Given the description of an element on the screen output the (x, y) to click on. 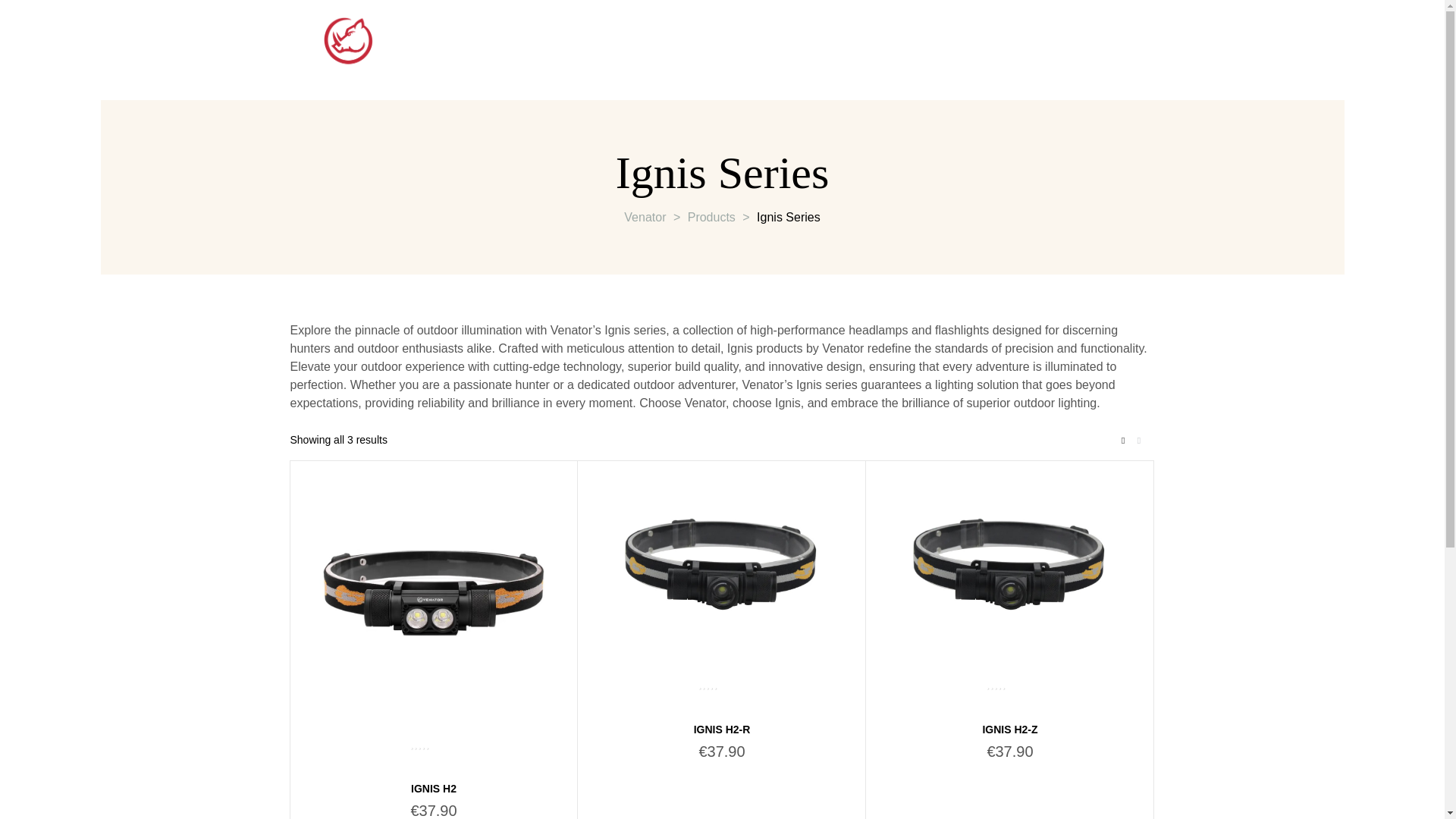
CONTACT (695, 47)
ABOUT VENATOR (574, 47)
Products (711, 217)
IGNIS H2 (433, 788)
IGNIS H2-R (722, 729)
HOME (463, 47)
Venator (644, 217)
PRODUCTS (800, 47)
Go to Venator. (644, 217)
IGNIS H2-Z (1008, 729)
